Given the description of an element on the screen output the (x, y) to click on. 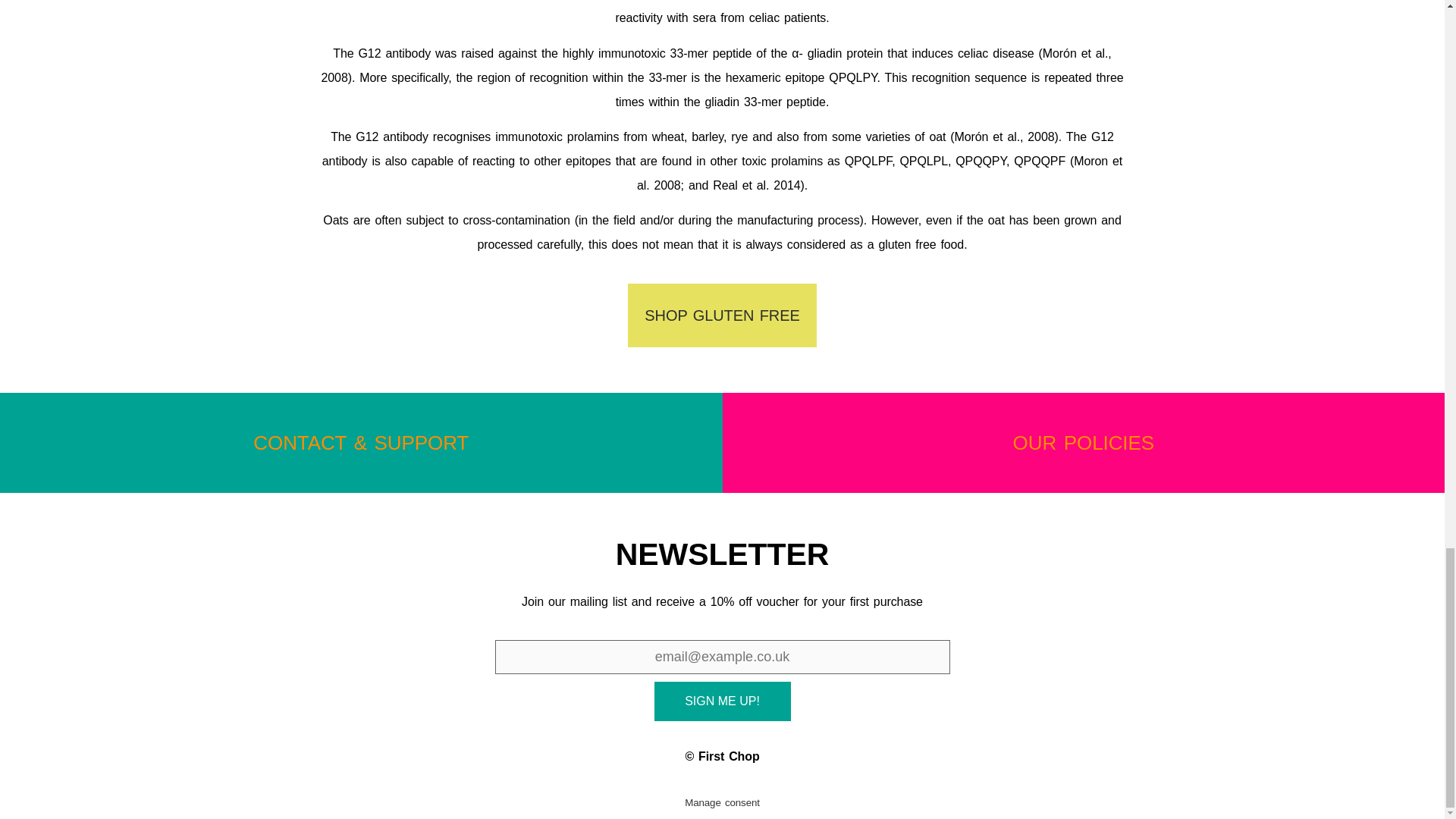
Sign Me Up! (721, 701)
Sign Me Up! (721, 701)
SHOP GLUTEN FREE (721, 315)
OUR POLICIES (1083, 442)
